Given the description of an element on the screen output the (x, y) to click on. 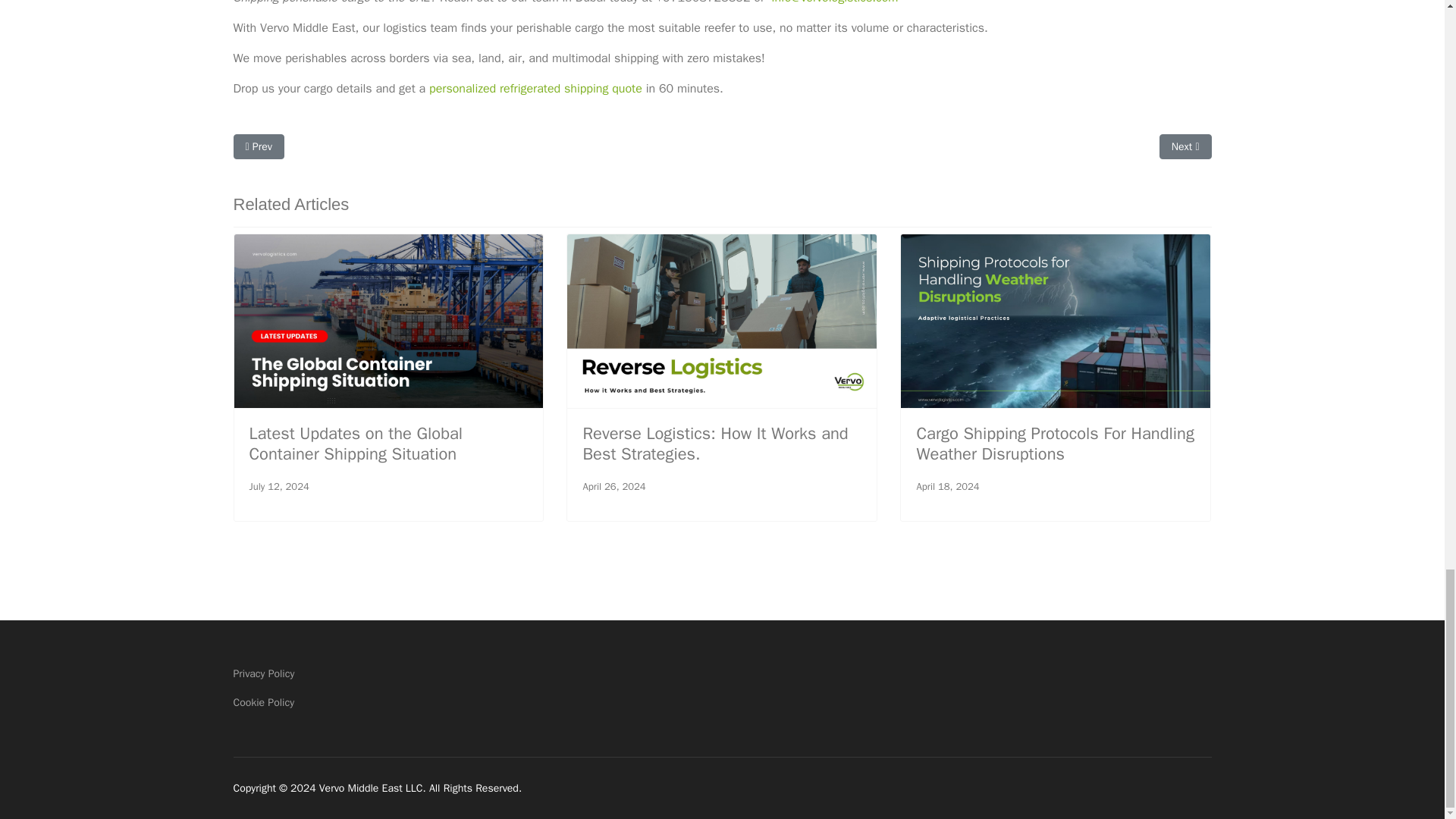
personalized refrigerated shipping quote (535, 88)
Reverse Logistics: How It Works and Best Strategies. (714, 443)
Published: July 12, 2024 (278, 486)
Cargo Shipping Protocols For Handling Weather Disruptions (1054, 443)
Latest Updates on the Global Container Shipping Situation (355, 443)
Privacy Policy (721, 673)
Published: April 18, 2024 (946, 486)
Published: April 26, 2024 (613, 486)
